Given the description of an element on the screen output the (x, y) to click on. 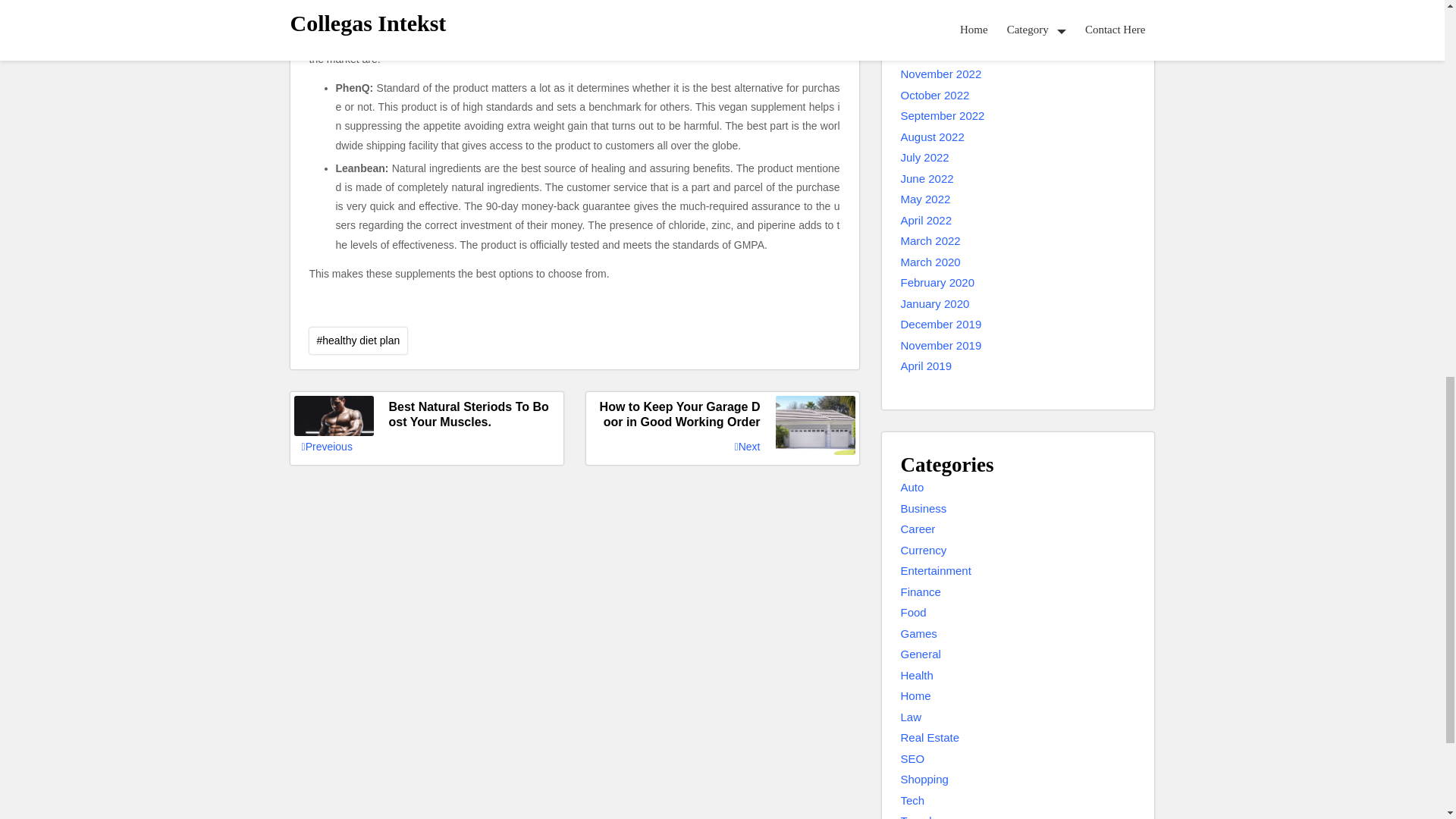
March 2022 (930, 241)
February 2023 (938, 12)
January 2020 (935, 303)
June 2022 (927, 179)
September 2022 (943, 116)
Best Natural Steriods To Boost Your Muscles. (426, 414)
November 2022 (941, 74)
August 2022 (932, 137)
July 2022 (925, 158)
Preveious (326, 446)
